Given the description of an element on the screen output the (x, y) to click on. 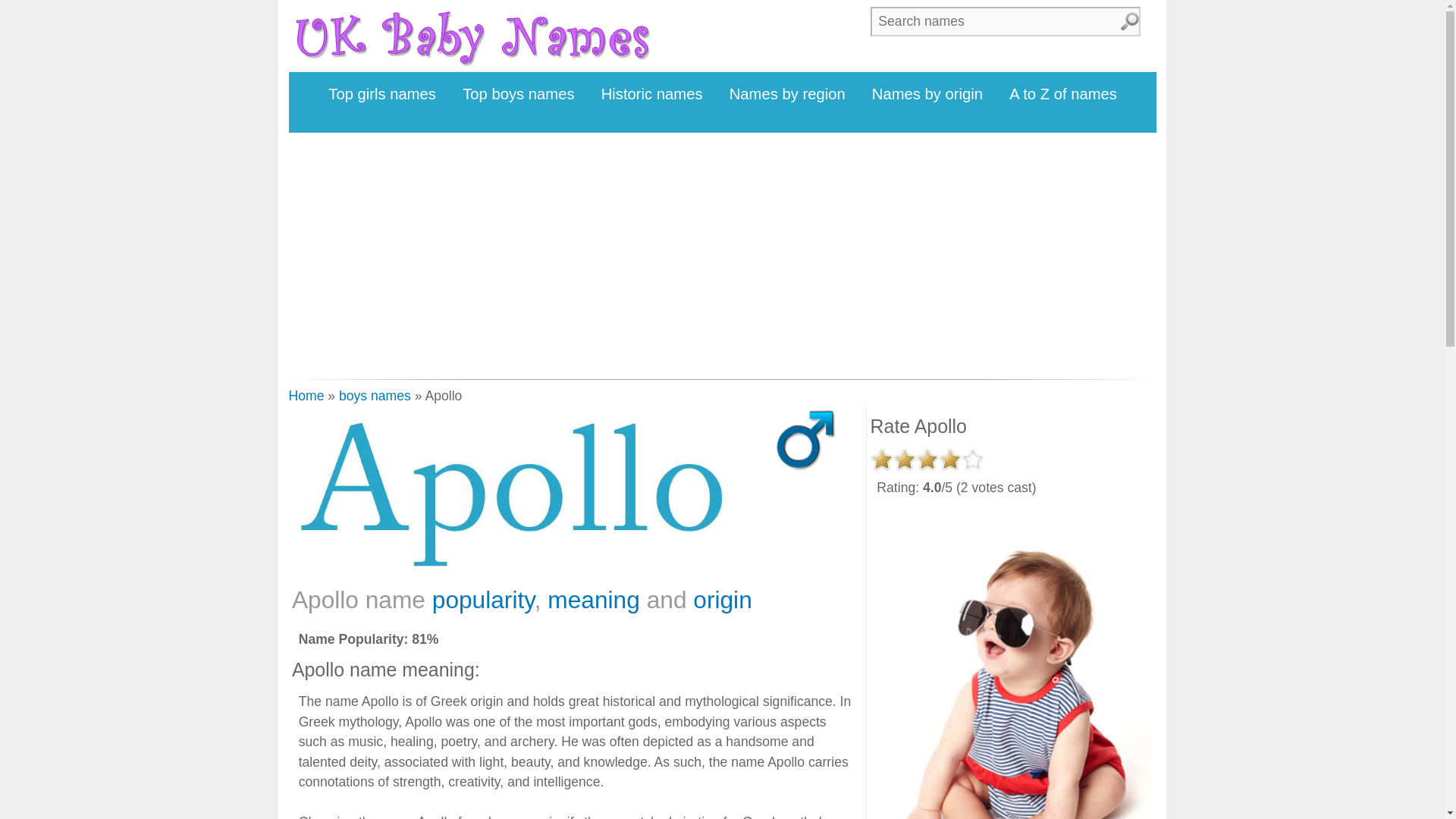
Home (305, 395)
1 out of 5 (881, 458)
popularity (483, 599)
Historic names (652, 94)
Top girls names (382, 94)
3 (927, 458)
5 out of 5 (972, 458)
2 out of 5 (904, 458)
Top boys names (518, 94)
4 out of 5 (949, 458)
